Given the description of an element on the screen output the (x, y) to click on. 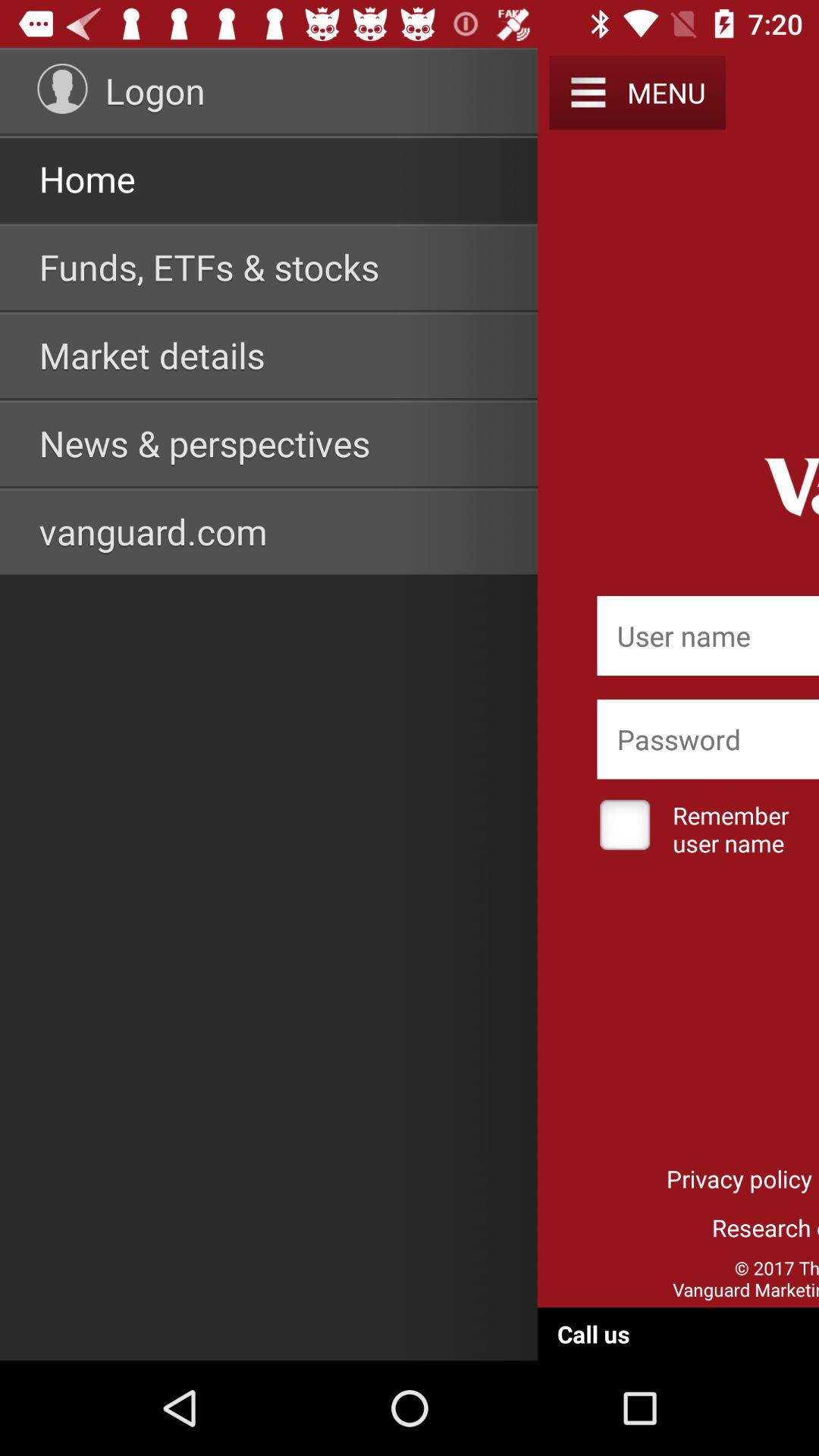
choose privacy policy item (739, 1178)
